Given the description of an element on the screen output the (x, y) to click on. 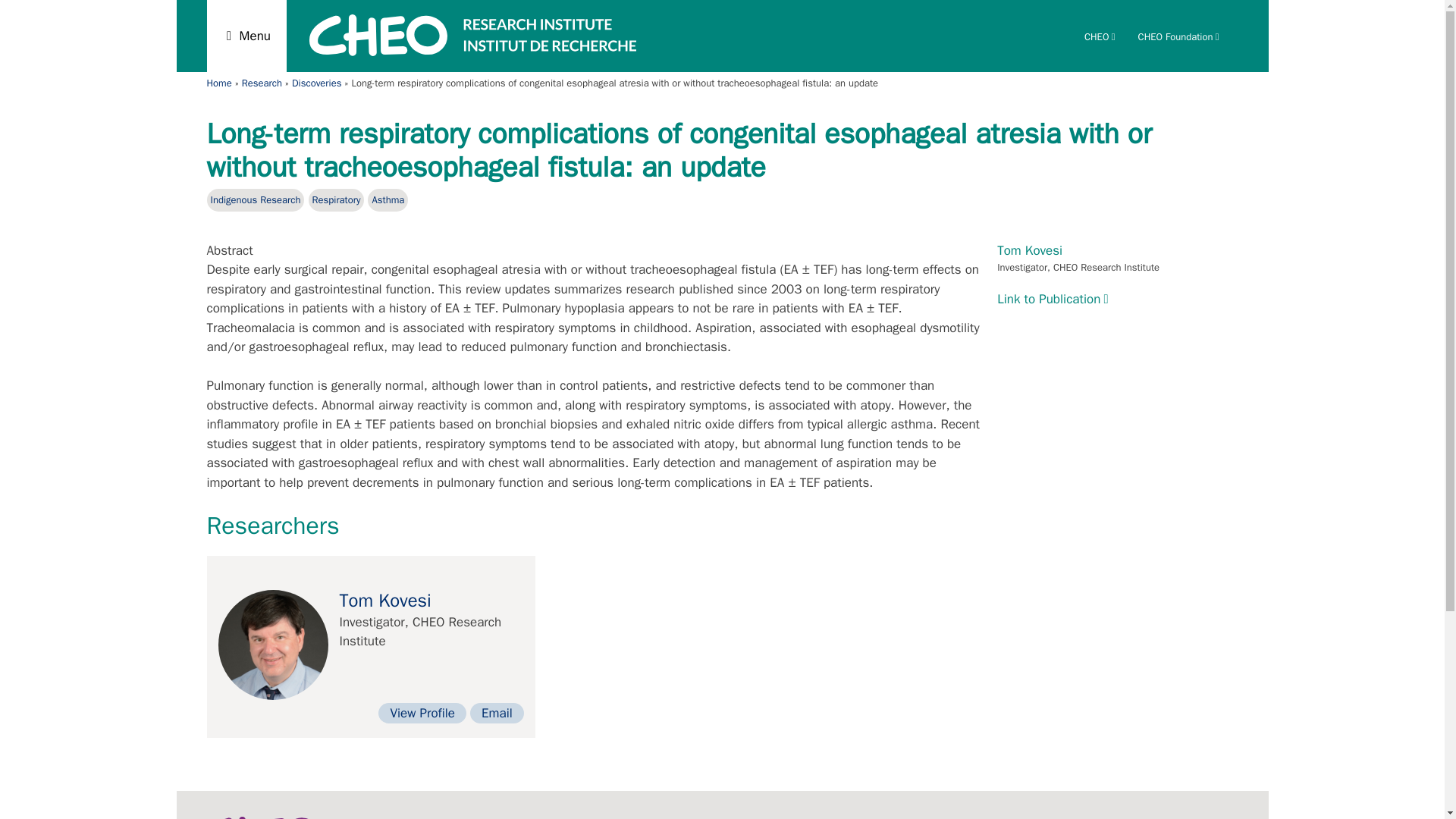
CHEO Research Institute (472, 51)
CHEO (1099, 37)
CHEO Foundation (1179, 37)
Menu (246, 36)
